Given the description of an element on the screen output the (x, y) to click on. 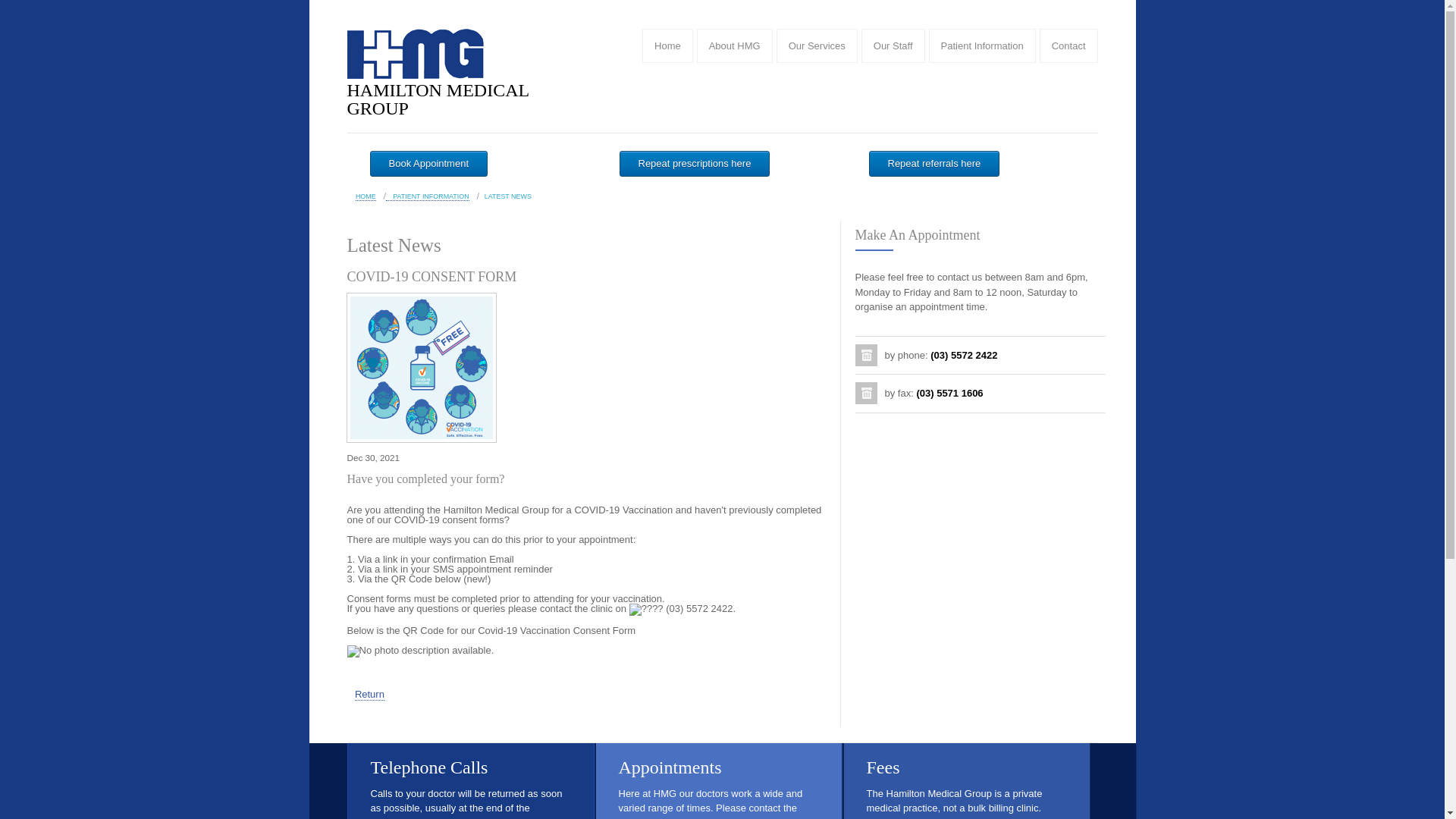
Contact Element type: text (1068, 45)
Repeat referrals here Element type: text (934, 163)
Our Services Element type: text (816, 45)
Book Appointment Element type: text (429, 163)
About HMG Element type: text (734, 45)
Patient Information Element type: text (981, 45)
Repeat prescriptions here Element type: text (693, 163)
Home Element type: text (667, 45)
HOME Element type: text (365, 196)
PATIENT INFORMATION Element type: text (427, 196)
Return Element type: text (369, 694)
Our Staff Element type: text (893, 45)
